Given the description of an element on the screen output the (x, y) to click on. 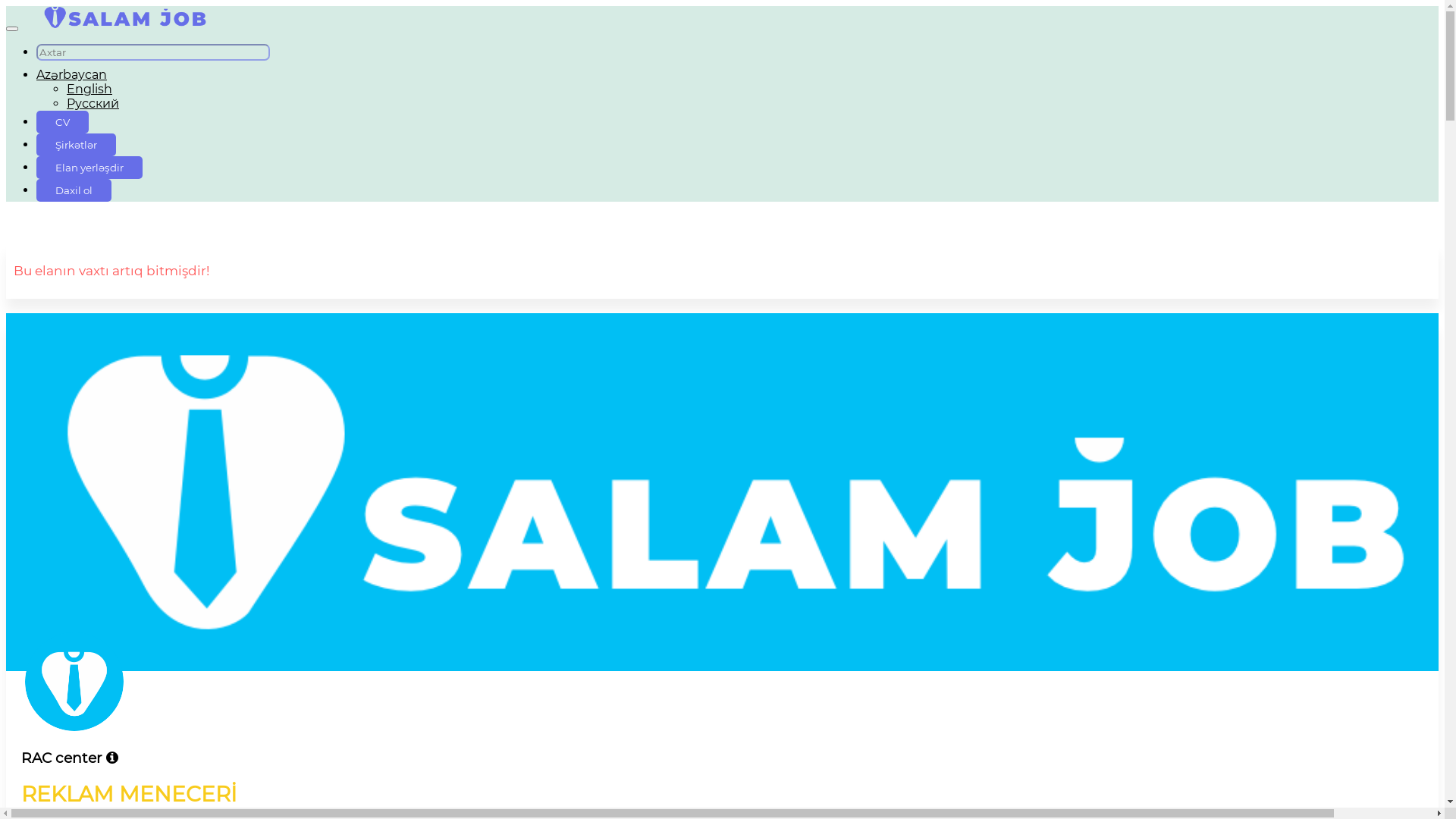
English Element type: text (89, 88)
CV Element type: text (62, 121)
Daxil ol Element type: text (73, 189)
CV Element type: text (62, 121)
RAC center Element type: text (722, 757)
Daxil ol Element type: text (73, 189)
